Given the description of an element on the screen output the (x, y) to click on. 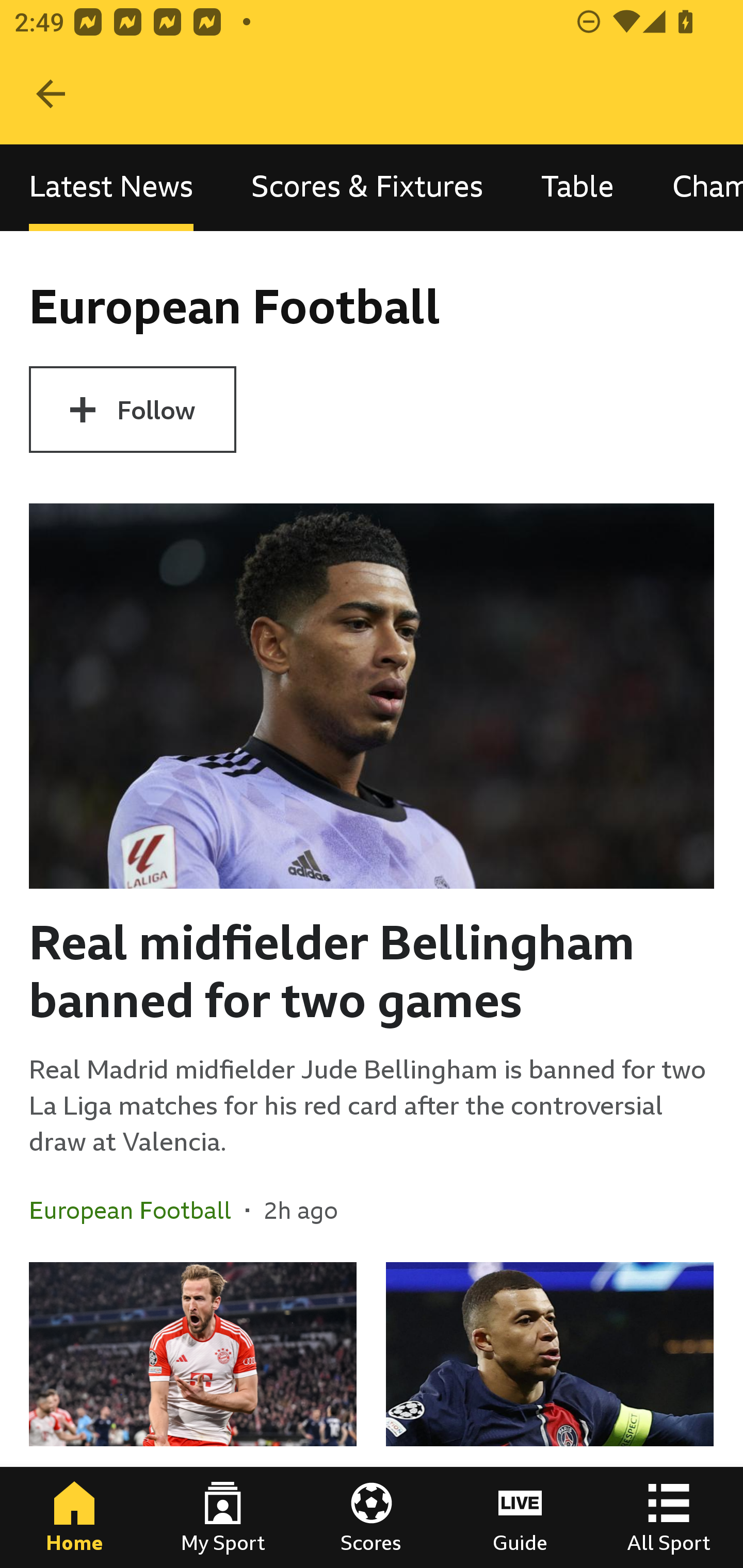
Navigate up (50, 93)
Latest News, selected Latest News (111, 187)
Scores & Fixtures (367, 187)
Table (577, 187)
Champions League (693, 187)
Follow European Football Follow (132, 409)
Kane scores two as stylish Bayern beat Lazio (192, 1415)
Mbappe has 'no problems' with manager Enrique (549, 1415)
My Sport (222, 1517)
Scores (371, 1517)
Guide (519, 1517)
All Sport (668, 1517)
